Given the description of an element on the screen output the (x, y) to click on. 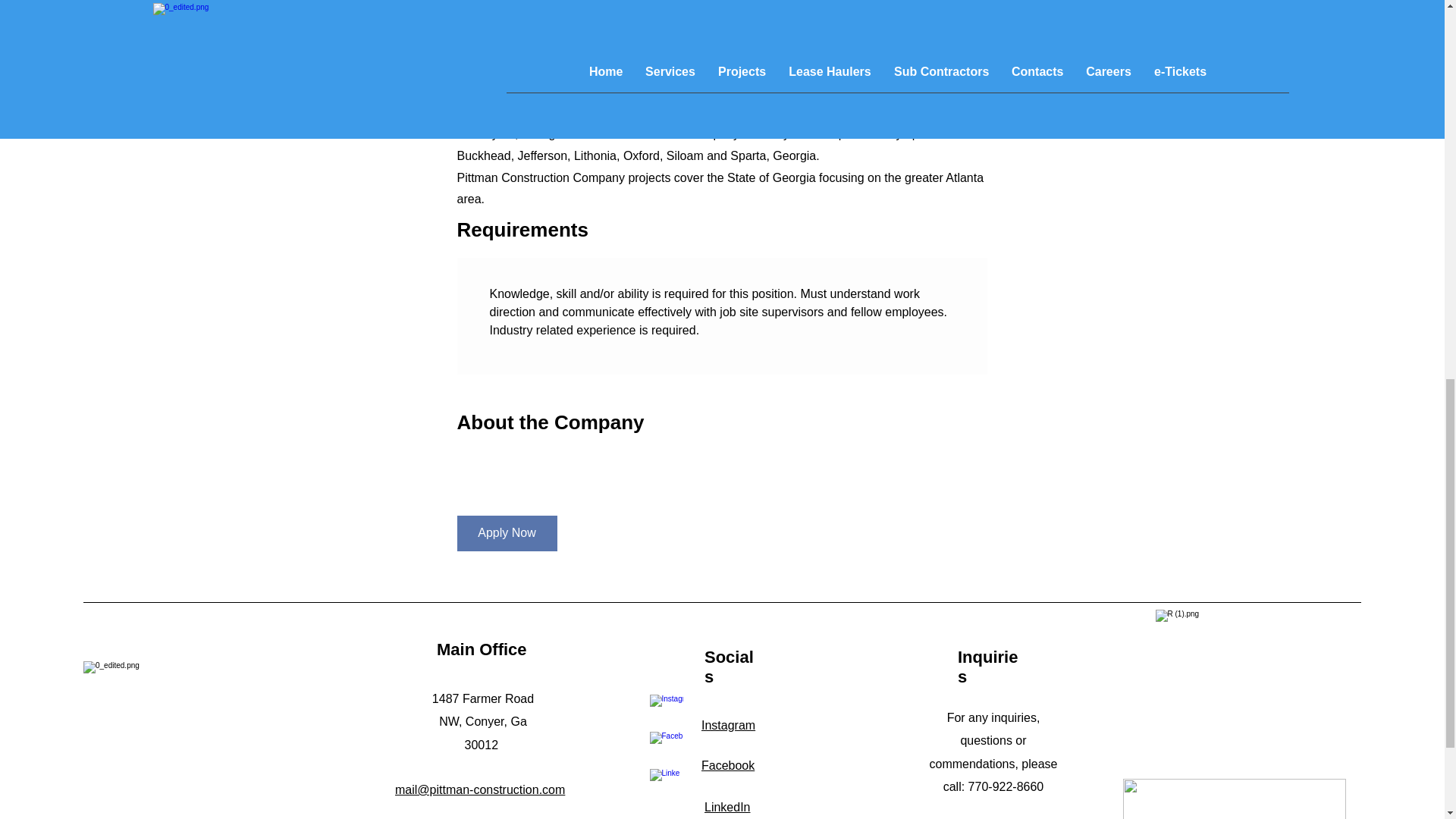
Apply Now (506, 533)
Facebook (727, 765)
Instagram (728, 725)
LinkedIn (727, 807)
